Given the description of an element on the screen output the (x, y) to click on. 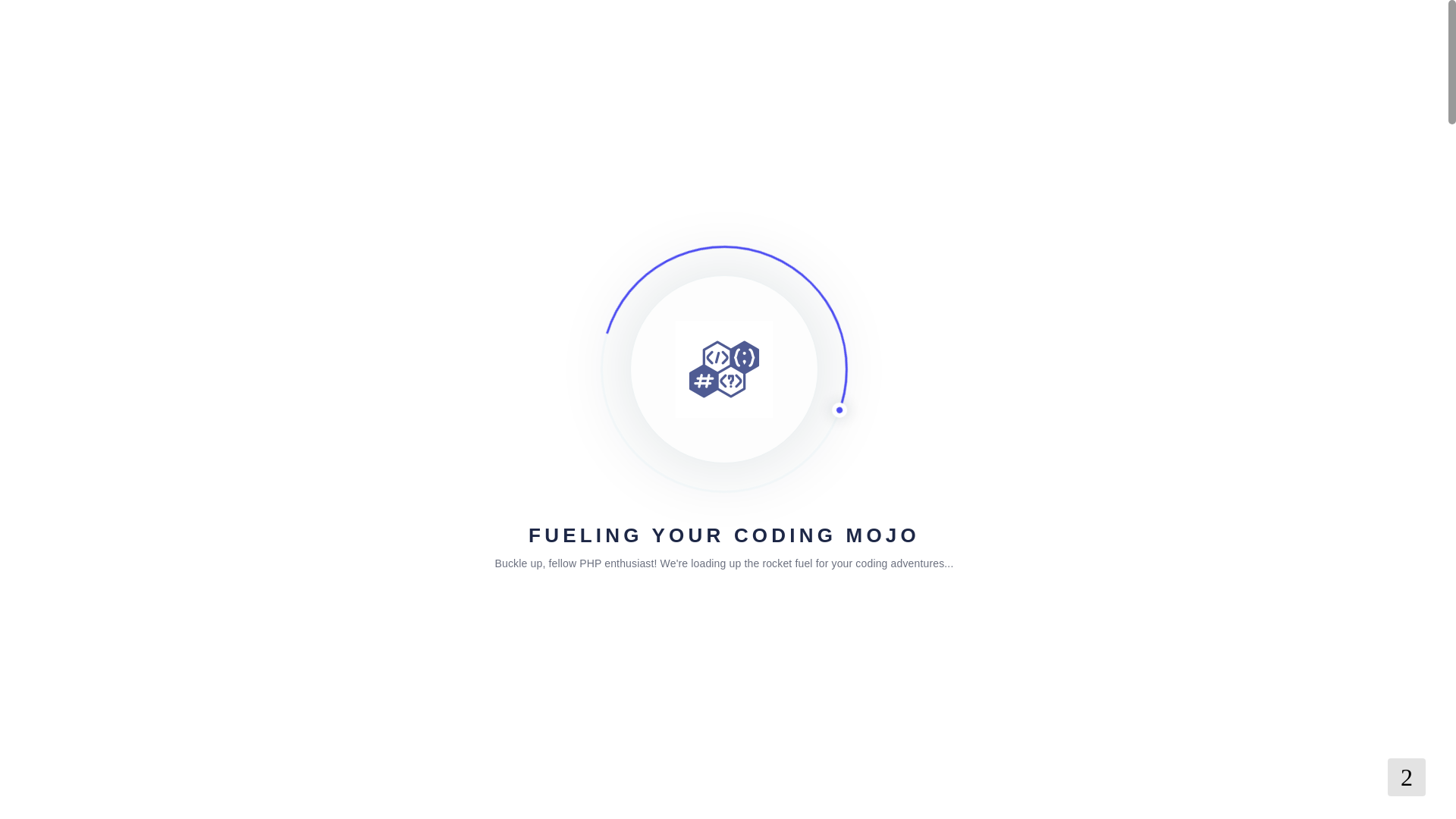
myrtice.wilderman (341, 422)
Filesystem Functions (449, 316)
Advertisement (1073, 785)
Back to Top (1406, 777)
Question (336, 501)
Home (294, 316)
Community (353, 316)
Ask Question (882, 430)
